Given the description of an element on the screen output the (x, y) to click on. 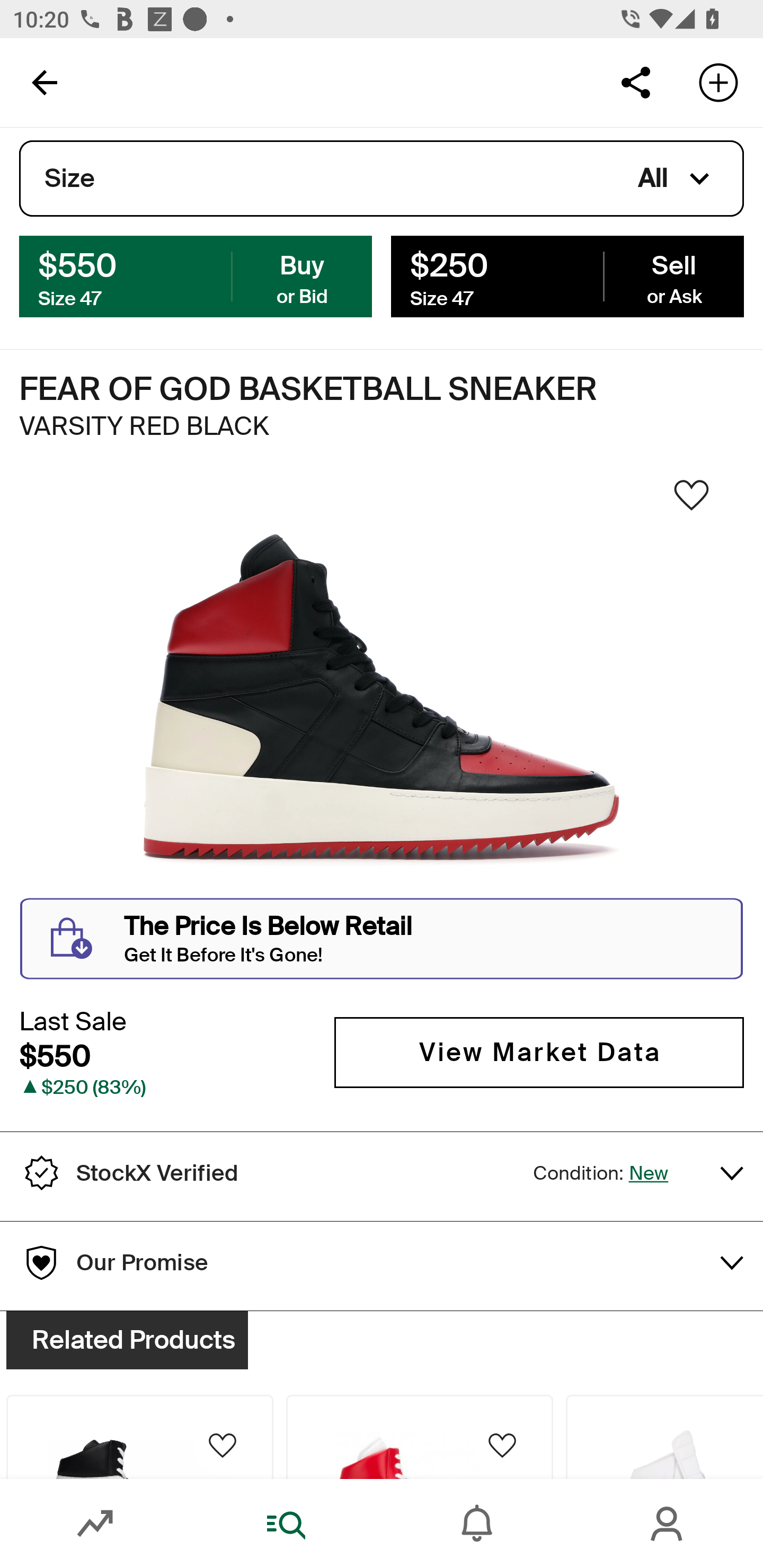
Share (635, 81)
Size All (381, 178)
$425 Buy Size 45 or Bid (195, 275)
$274 Sell Size 45 or Ask (566, 275)
Sneaker Image (381, 699)
View Market Data (538, 1052)
Market (95, 1523)
Inbox (476, 1523)
Account (667, 1523)
